Given the description of an element on the screen output the (x, y) to click on. 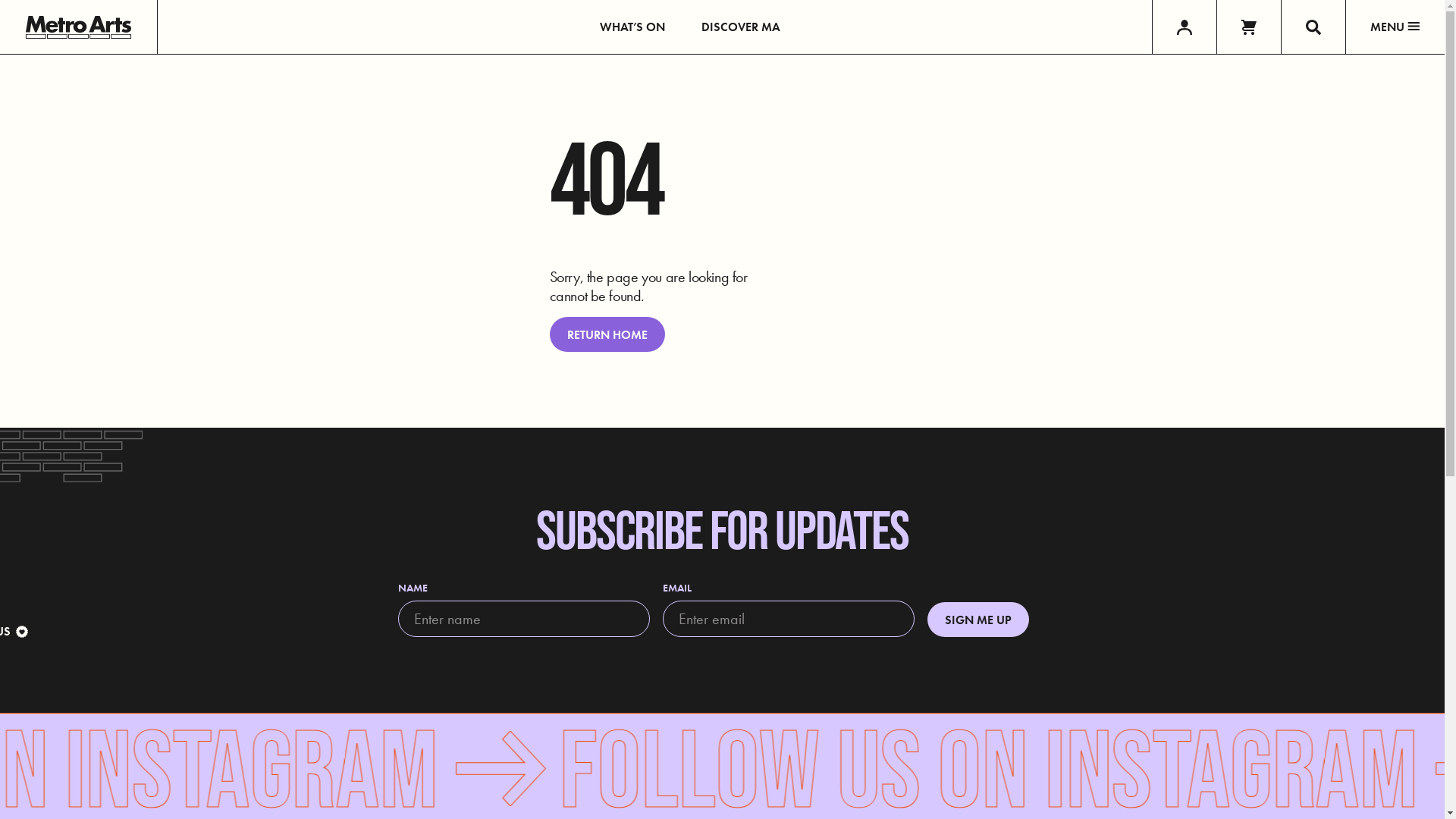
Cart Element type: hover (1248, 26)
Site Search Element type: hover (1312, 26)
RETURN HOME Element type: text (606, 333)
SIGN ME UP Element type: text (978, 619)
DISCOVER MA Element type: text (740, 26)
Account Element type: hover (1183, 26)
Metro Arts Element type: hover (78, 26)
MENU Element type: text (1394, 26)
